Given the description of an element on the screen output the (x, y) to click on. 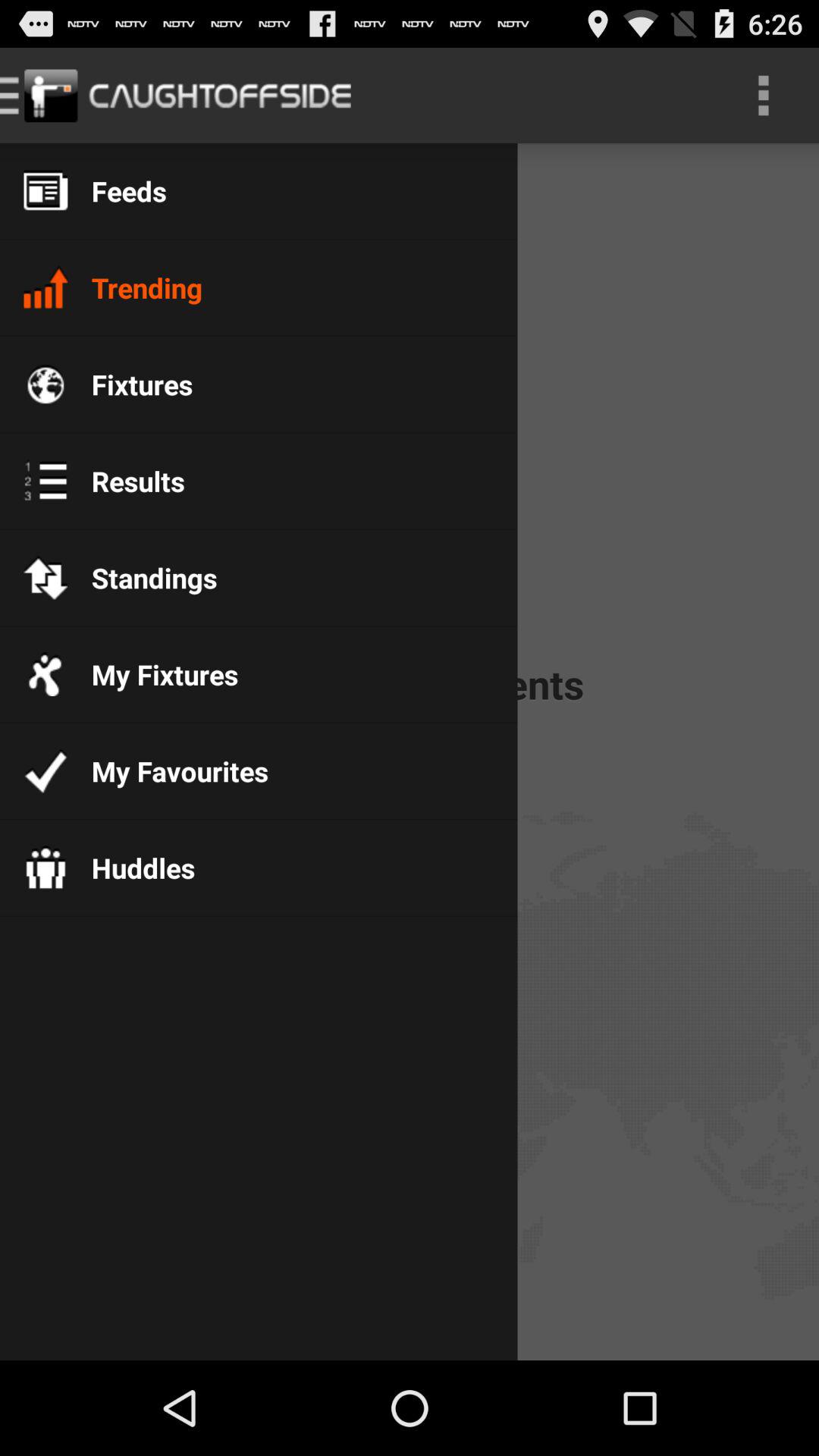
tap the feeds icon (116, 190)
